Given the description of an element on the screen output the (x, y) to click on. 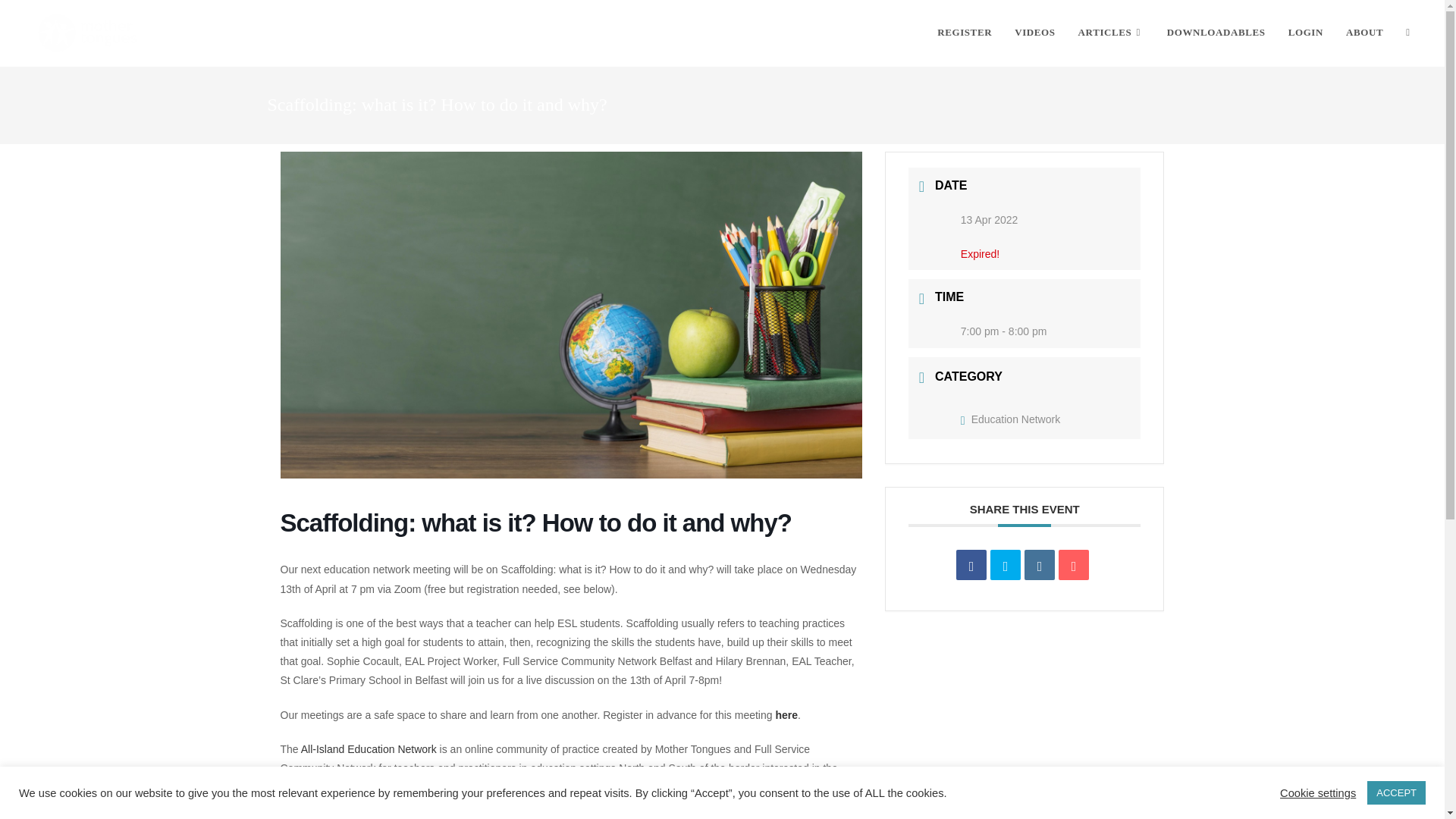
Linkedin (1039, 564)
Share on Facebook (971, 564)
Email (1073, 564)
ARTICLES (1111, 32)
VIDEOS (1034, 32)
LOGIN (1305, 32)
ABOUT (1364, 32)
REGISTER (964, 32)
DOWNLOADABLES (1216, 32)
Tweet (1005, 564)
